Given the description of an element on the screen output the (x, y) to click on. 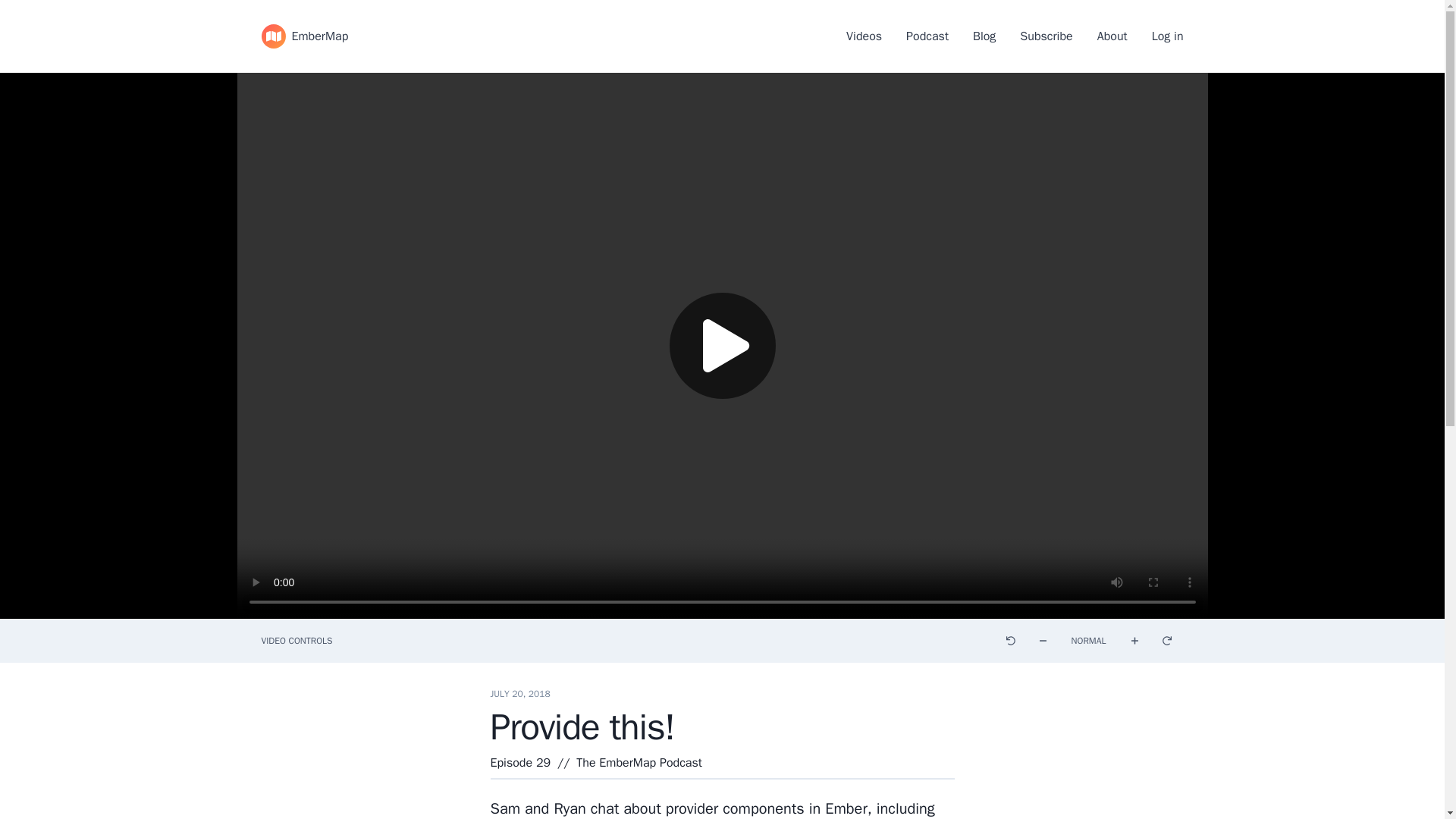
EmberMap (303, 36)
Blog (983, 36)
Log in (1167, 36)
Podcast (927, 36)
Videos (863, 36)
Subscribe (1045, 36)
About (1111, 36)
